Given the description of an element on the screen output the (x, y) to click on. 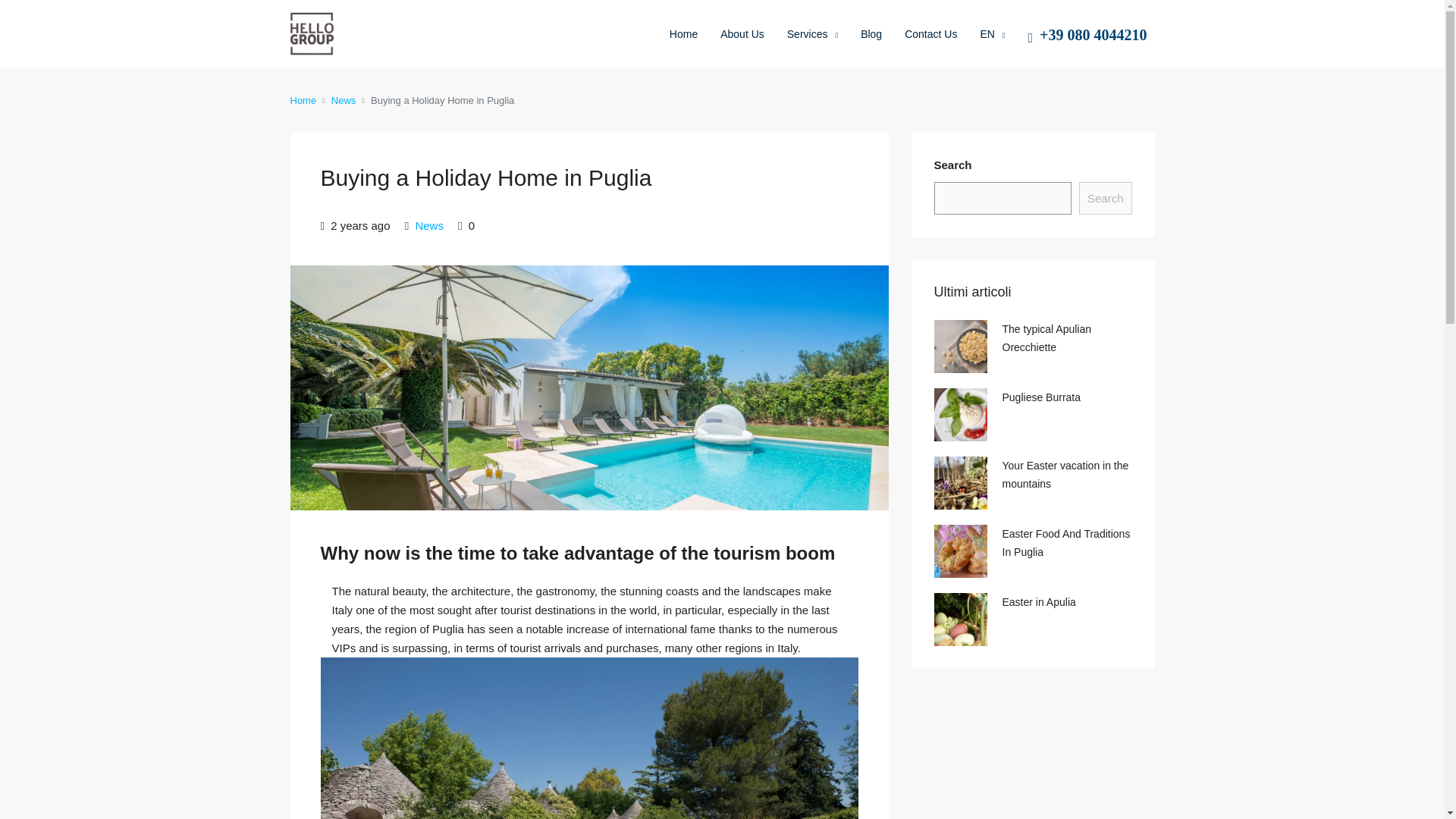
Contact Us (930, 33)
Home (302, 99)
News (429, 225)
About Us (742, 33)
Services (812, 34)
Why now is the time to take advantage of the tourism boom (588, 553)
News (343, 99)
